Given the description of an element on the screen output the (x, y) to click on. 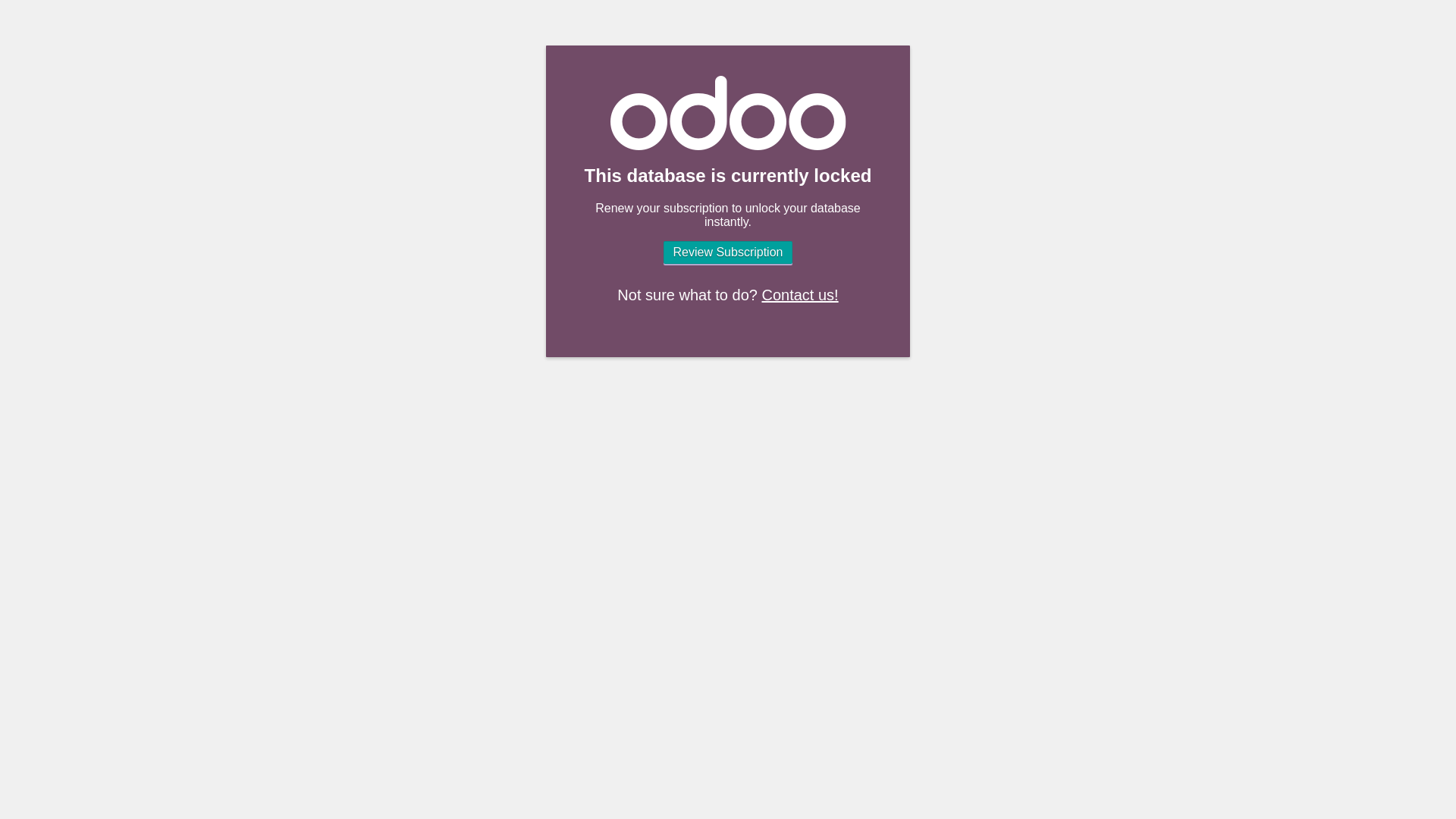
Contact us! (799, 294)
Review Subscription (728, 251)
